Given the description of an element on the screen output the (x, y) to click on. 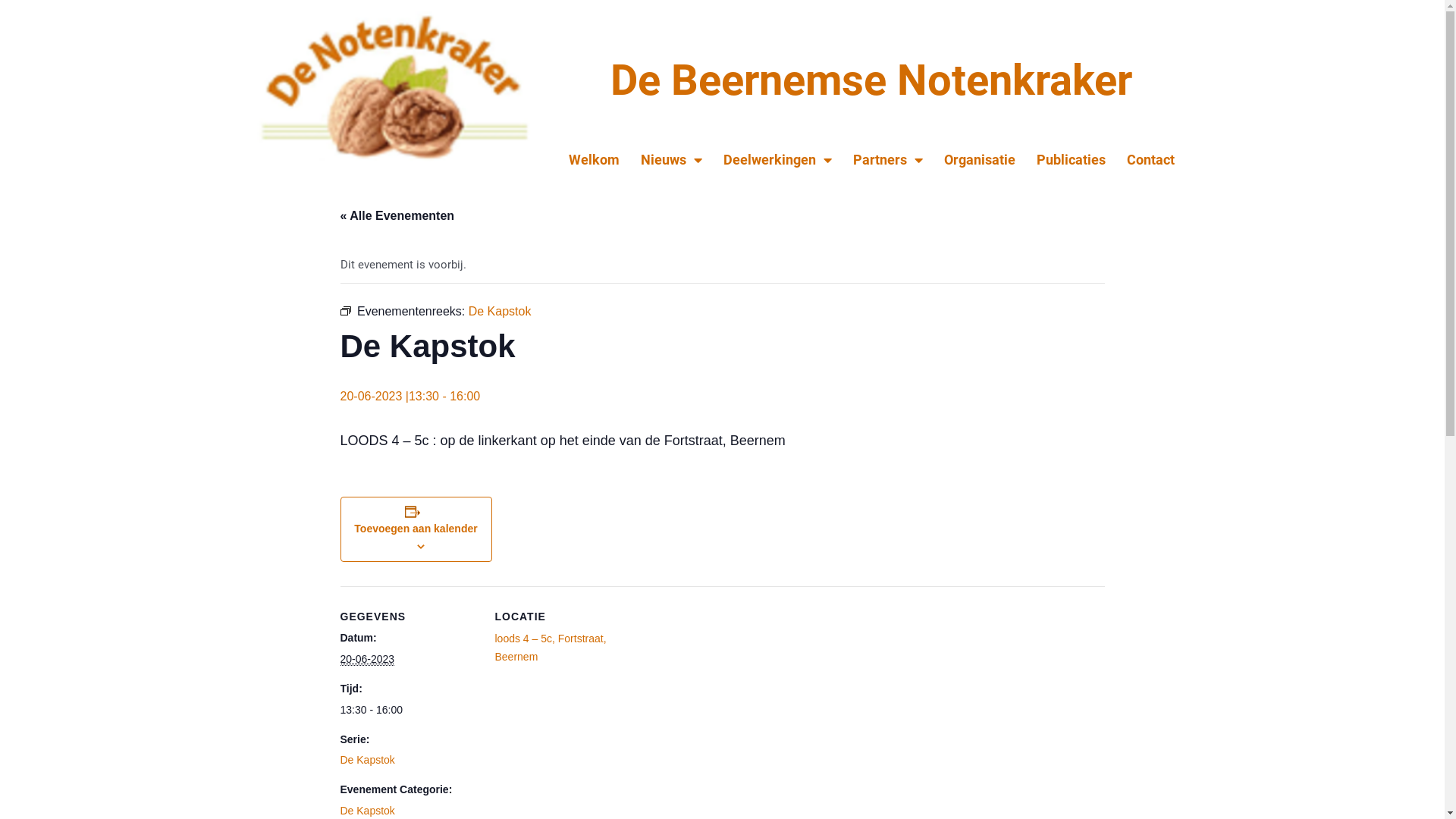
Organisatie Element type: text (979, 158)
Publicaties Element type: text (1070, 158)
Partners Element type: text (887, 158)
Welkom Element type: text (593, 158)
De Kapstok Element type: text (366, 759)
Contact Element type: text (1150, 158)
Toevoegen aan kalender Element type: text (415, 528)
De Kapstok Element type: text (499, 310)
Deelwerkingen Element type: text (777, 158)
De Kapstok Element type: text (366, 810)
Nieuws Element type: text (671, 158)
